Given the description of an element on the screen output the (x, y) to click on. 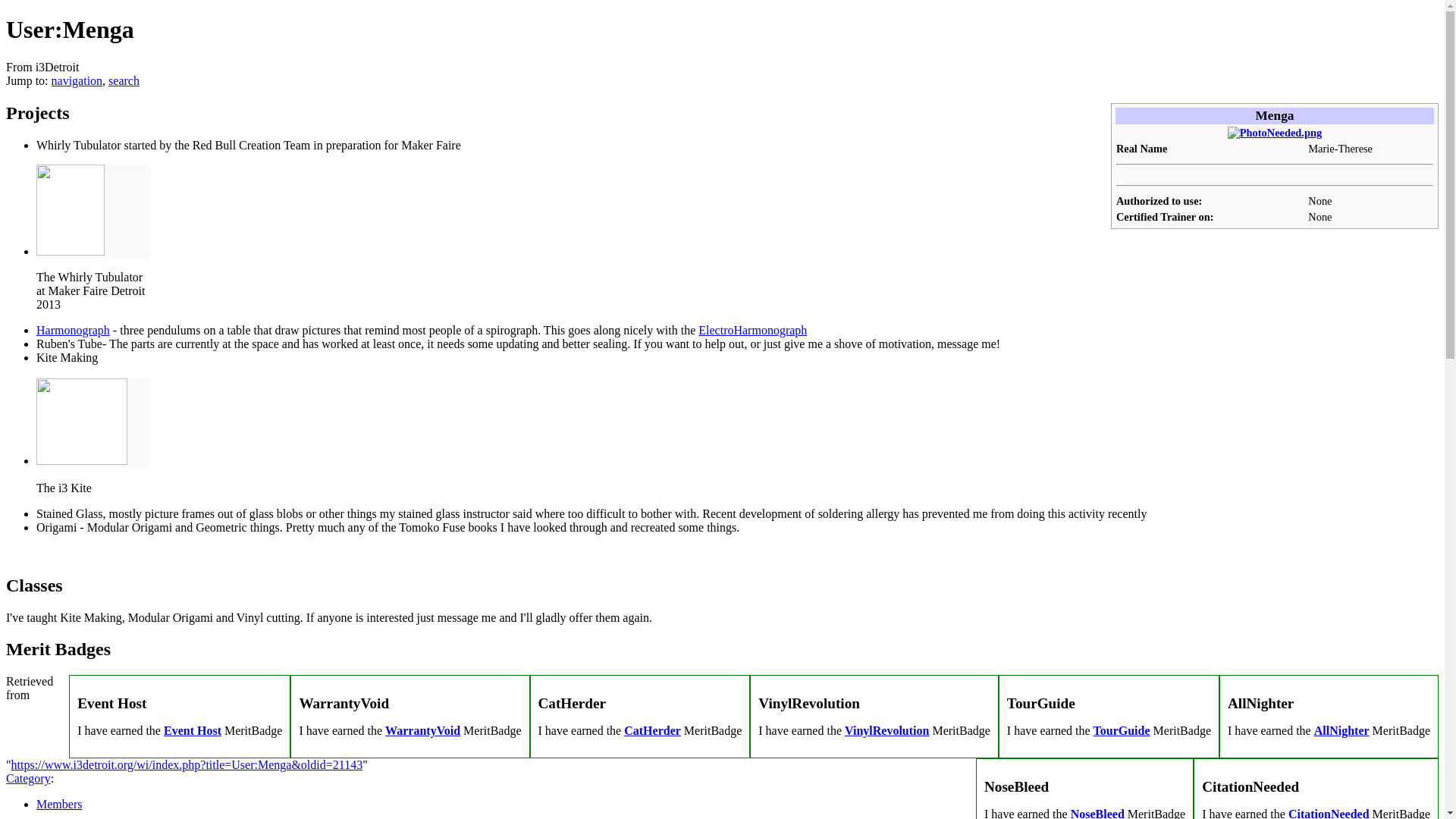
NoseBleed (1097, 813)
AllNighter (1342, 730)
Event Host (192, 730)
CatHerder (652, 730)
TourGuide (1121, 730)
VinylRevolution (886, 730)
TourGuide (1121, 730)
navigation (76, 80)
Category (27, 778)
NoseBleed (1097, 813)
Event Host (192, 730)
VinylRevolution (886, 730)
Harmonograph (73, 329)
CitationNeeded (1329, 813)
CatHerder (652, 730)
